Given the description of an element on the screen output the (x, y) to click on. 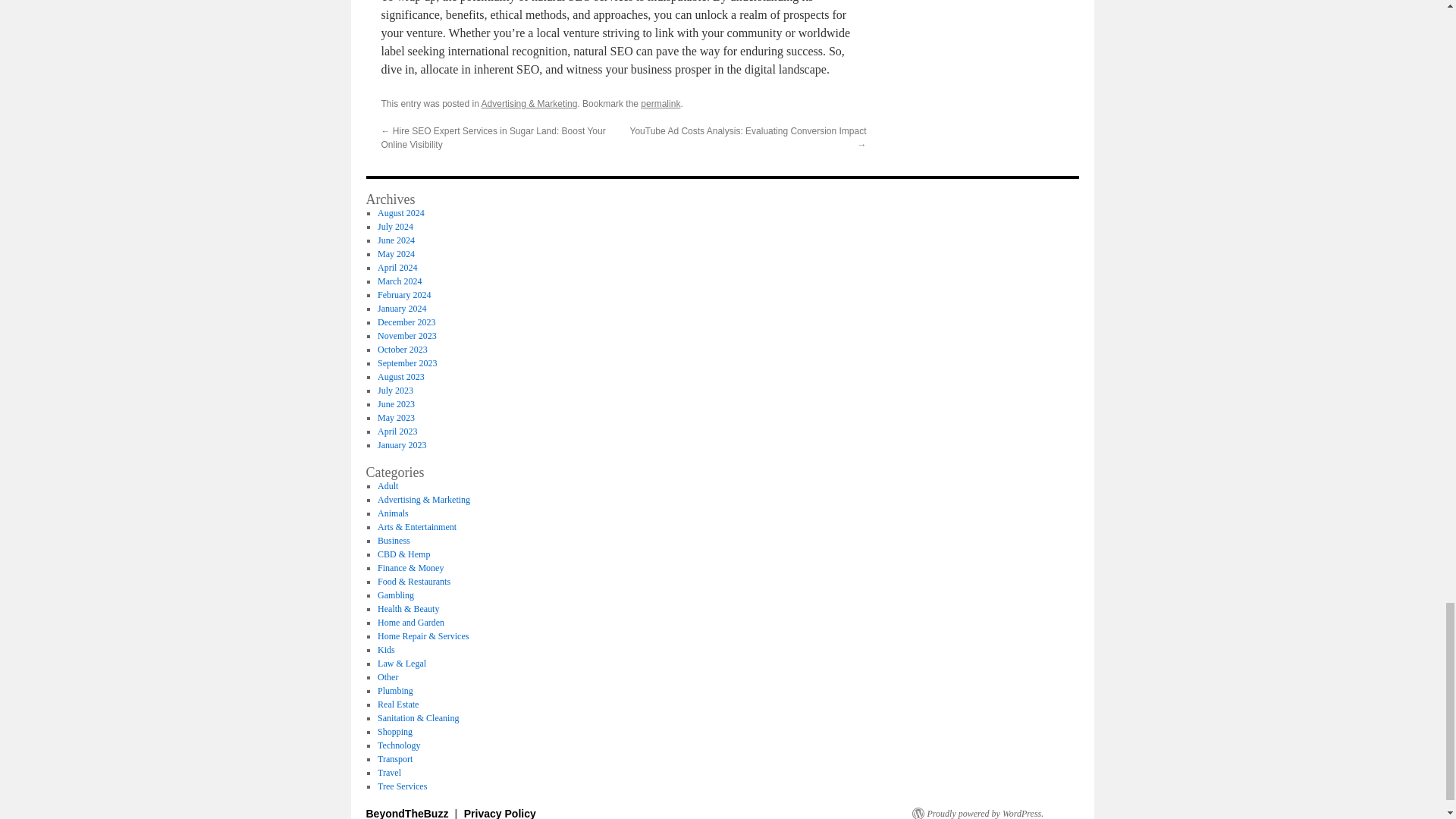
August 2024 (401, 213)
Adult (387, 485)
May 2023 (395, 417)
August 2023 (401, 376)
November 2023 (406, 335)
permalink (659, 103)
January 2023 (401, 444)
June 2023 (395, 403)
April 2024 (396, 267)
September 2023 (406, 362)
